Given the description of an element on the screen output the (x, y) to click on. 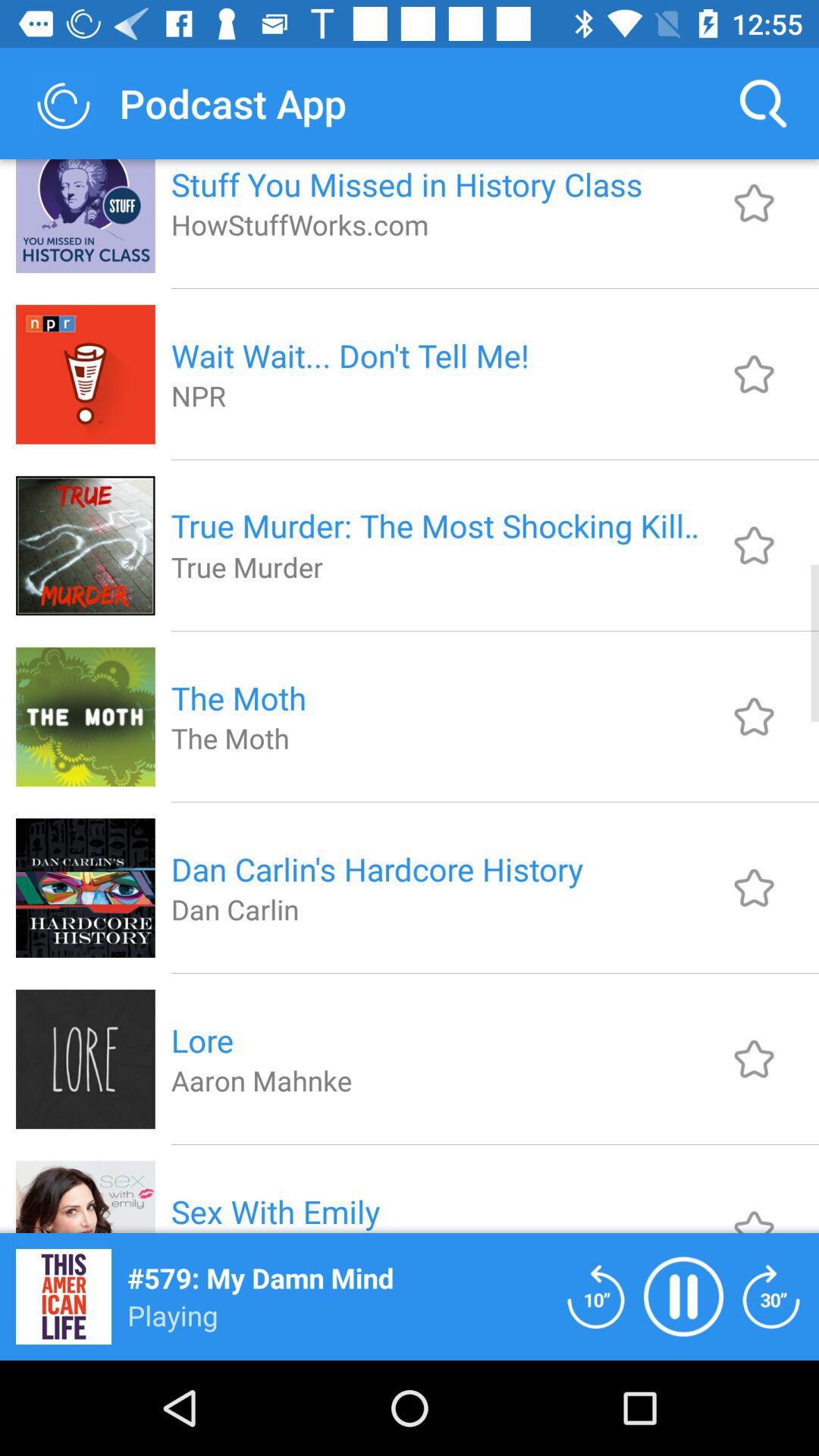
favorite option (754, 203)
